Given the description of an element on the screen output the (x, y) to click on. 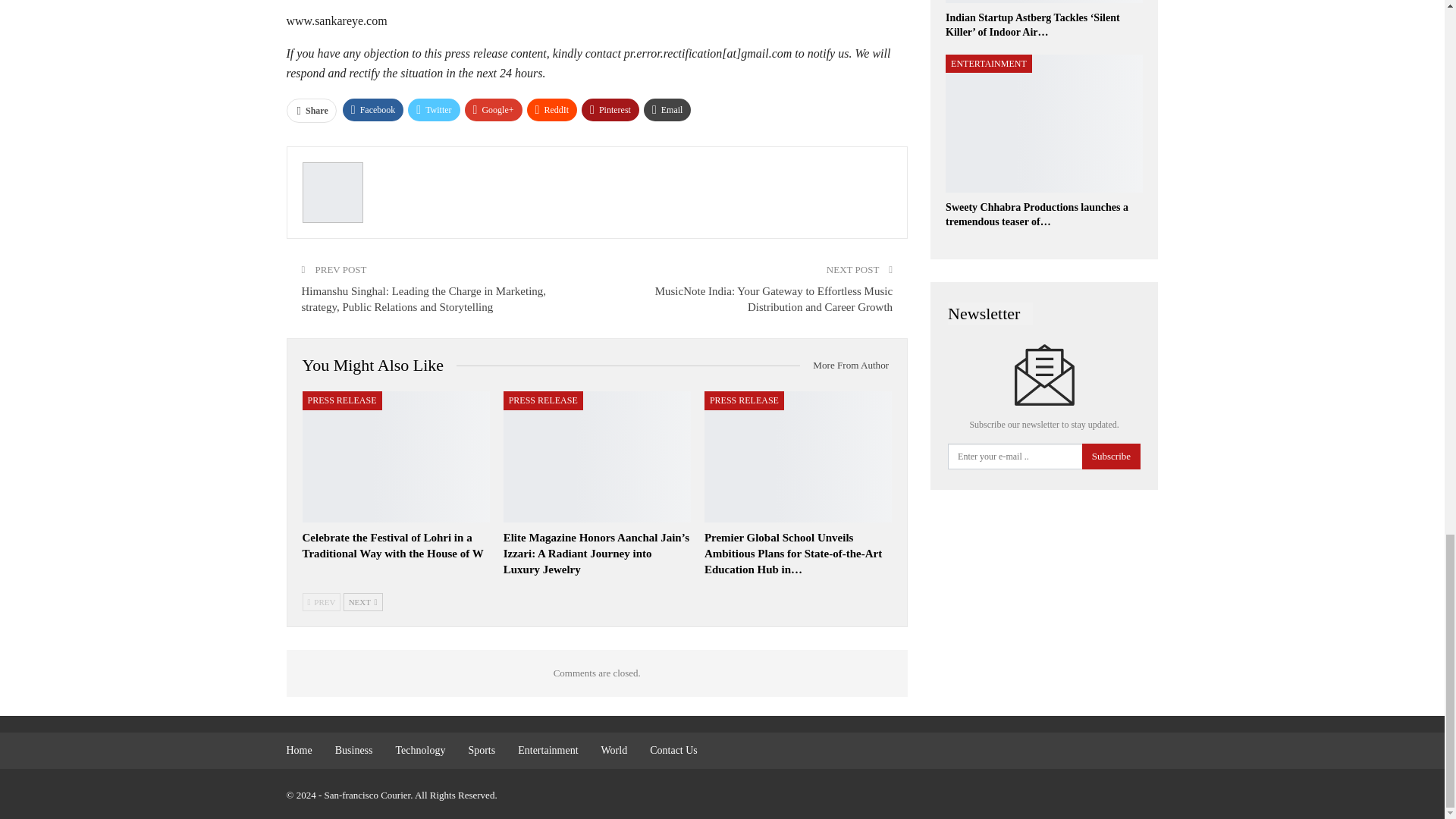
Facebook (373, 109)
Twitter (433, 109)
ReddIt (552, 109)
